Given the description of an element on the screen output the (x, y) to click on. 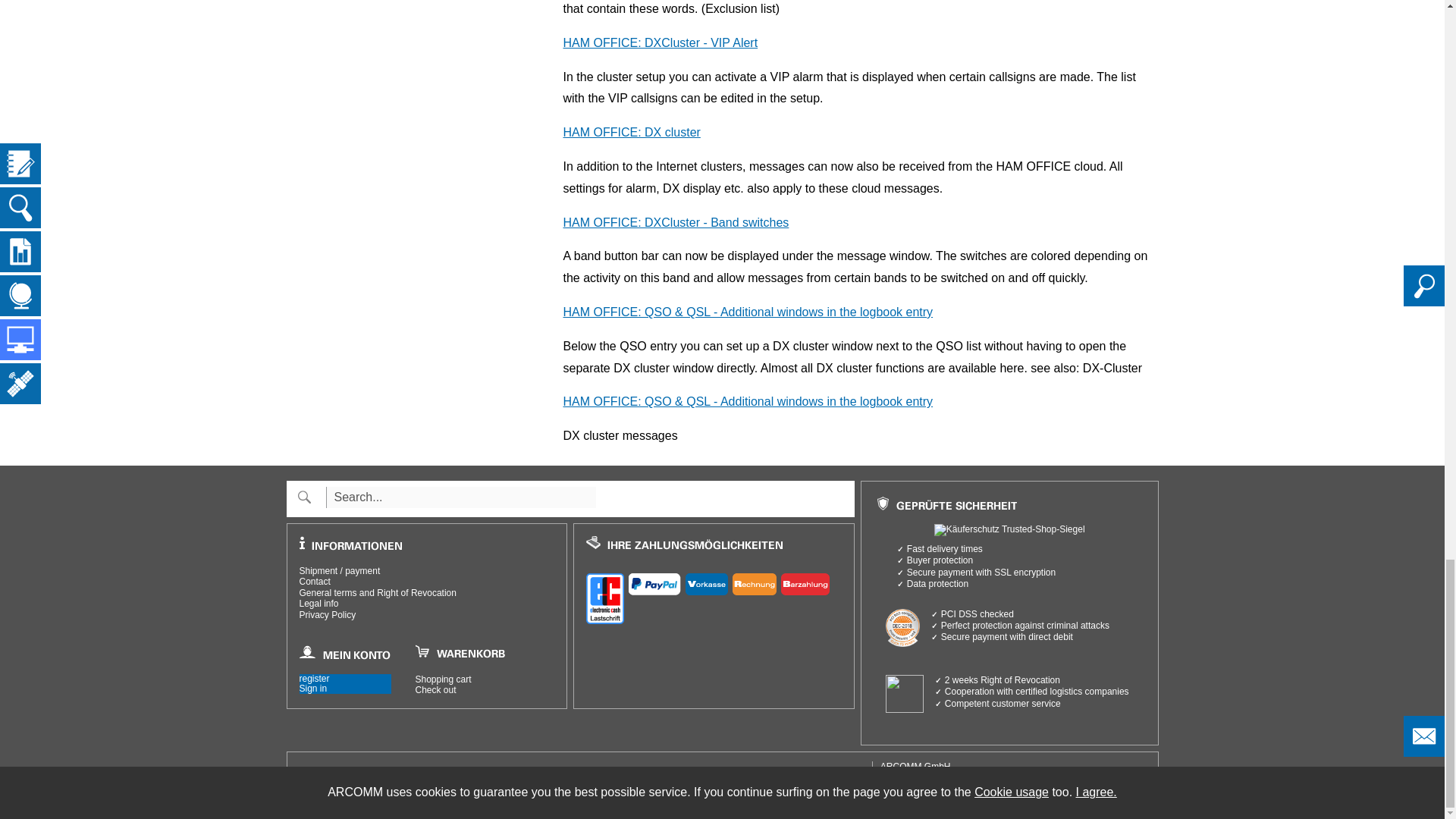
Search... (460, 496)
